Given the description of an element on the screen output the (x, y) to click on. 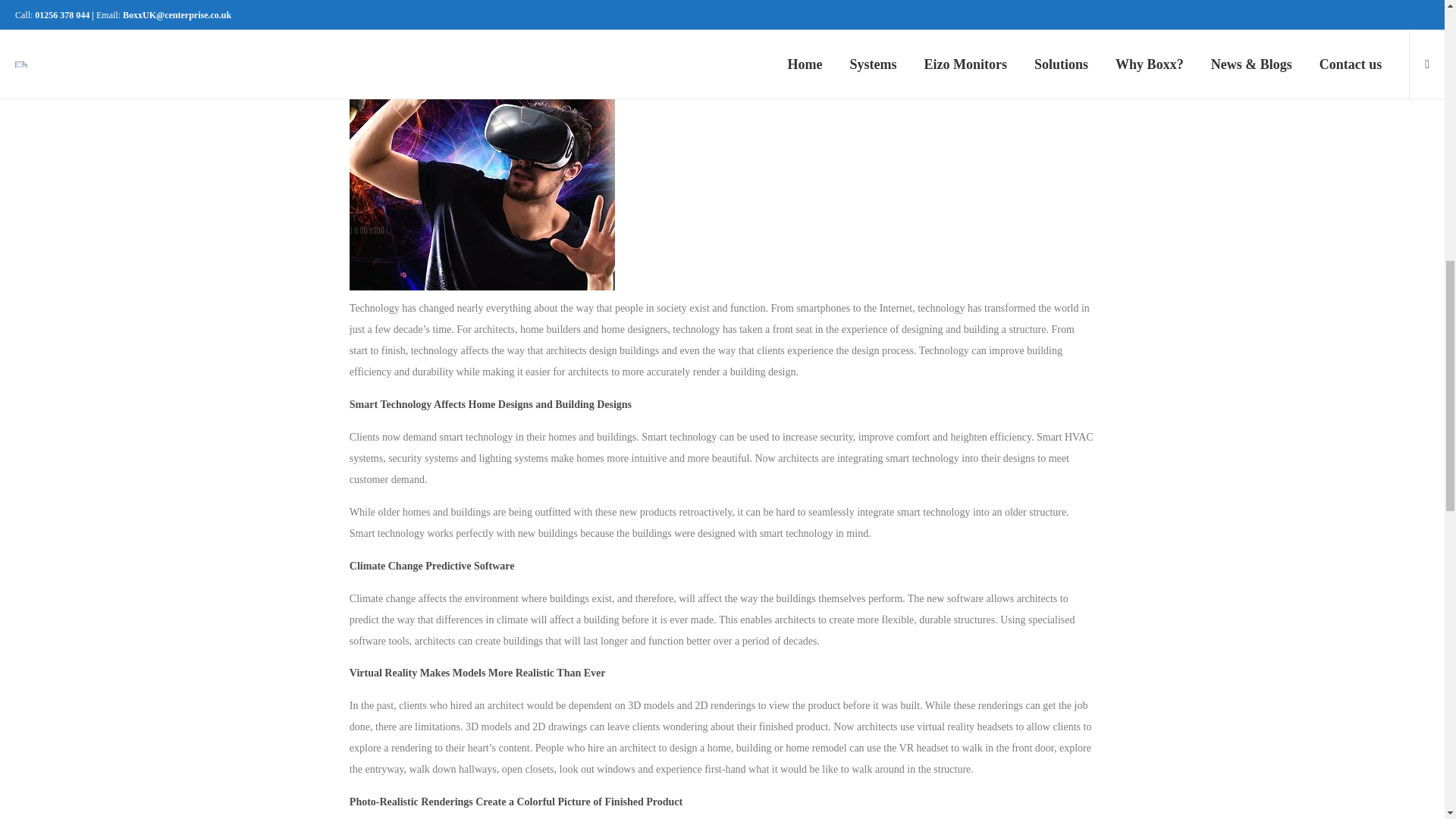
affect the way the buildings themselves perform (799, 598)
now demand smart technology (446, 437)
architects use virtual reality (915, 726)
